Given the description of an element on the screen output the (x, y) to click on. 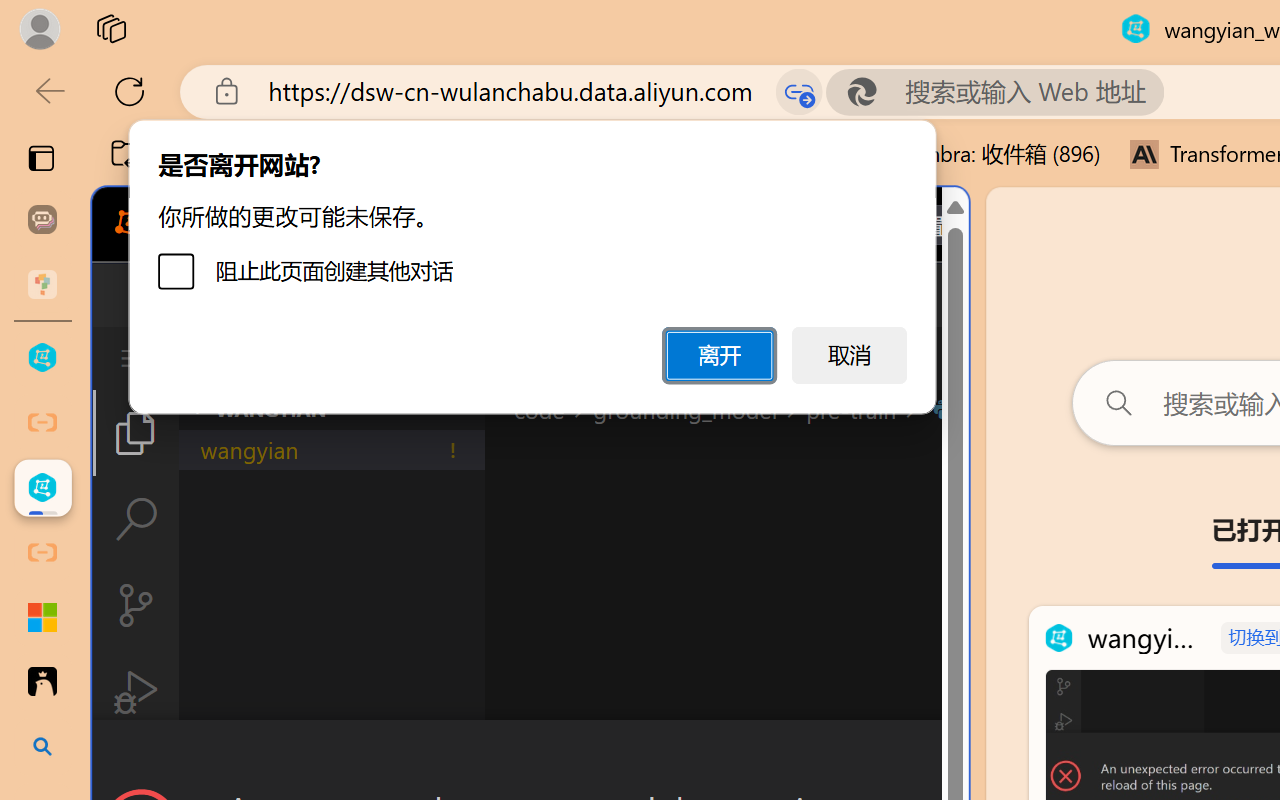
Run and Debug (Ctrl+Shift+D) (135, 692)
Adjust indents and spacing - Microsoft Support (42, 617)
Close Dialog (959, 756)
Class: actions-container (529, 756)
